Given the description of an element on the screen output the (x, y) to click on. 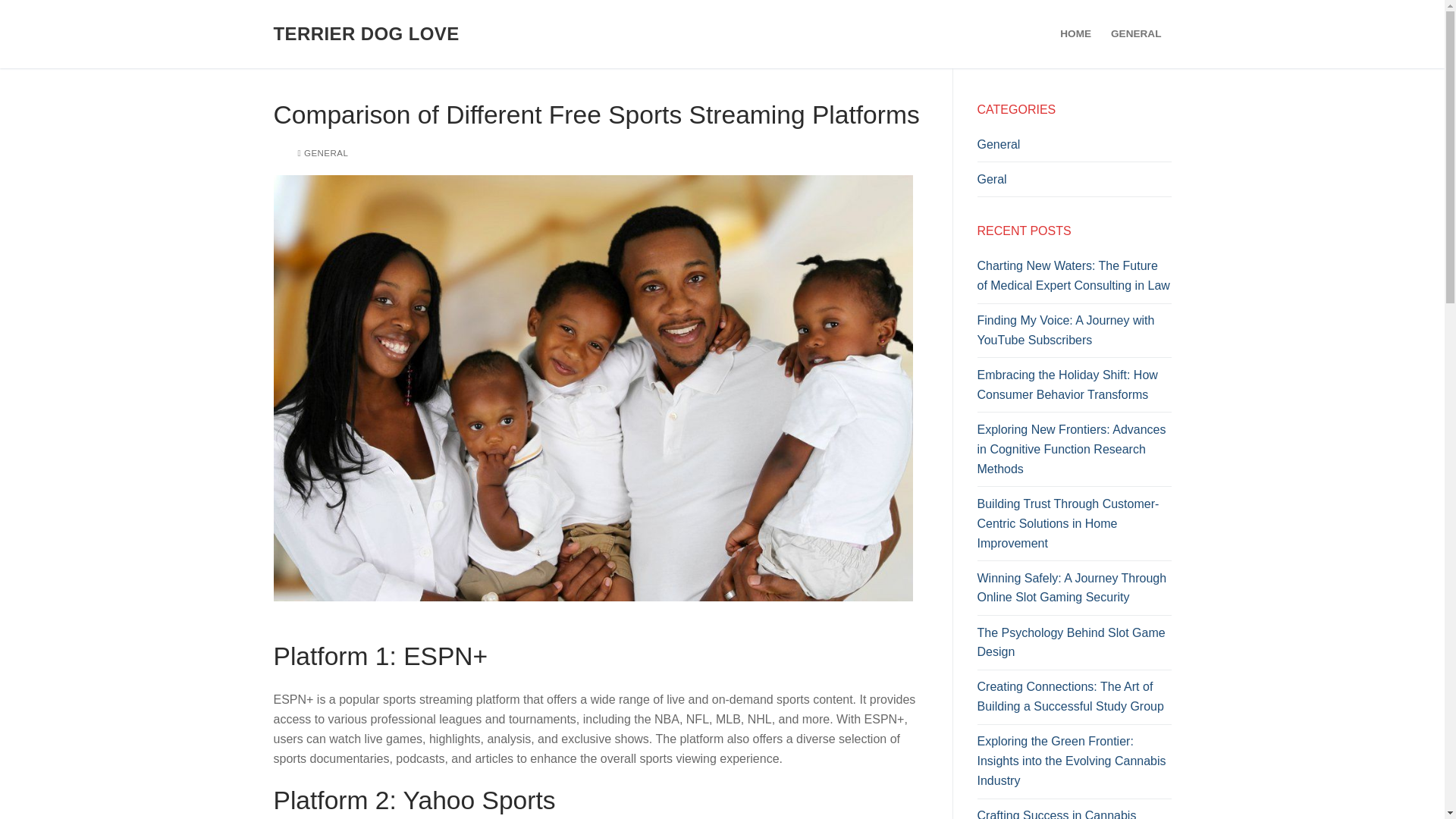
The Psychology Behind Slot Game Design (1073, 646)
Crafting Success in Cannabis Delivery Services (1073, 812)
GENERAL (1135, 33)
Geral (1073, 183)
TERRIER DOG LOVE (365, 33)
General (1073, 148)
GENERAL (322, 153)
Finding My Voice: A Journey with YouTube Subscribers (1073, 334)
